Given the description of an element on the screen output the (x, y) to click on. 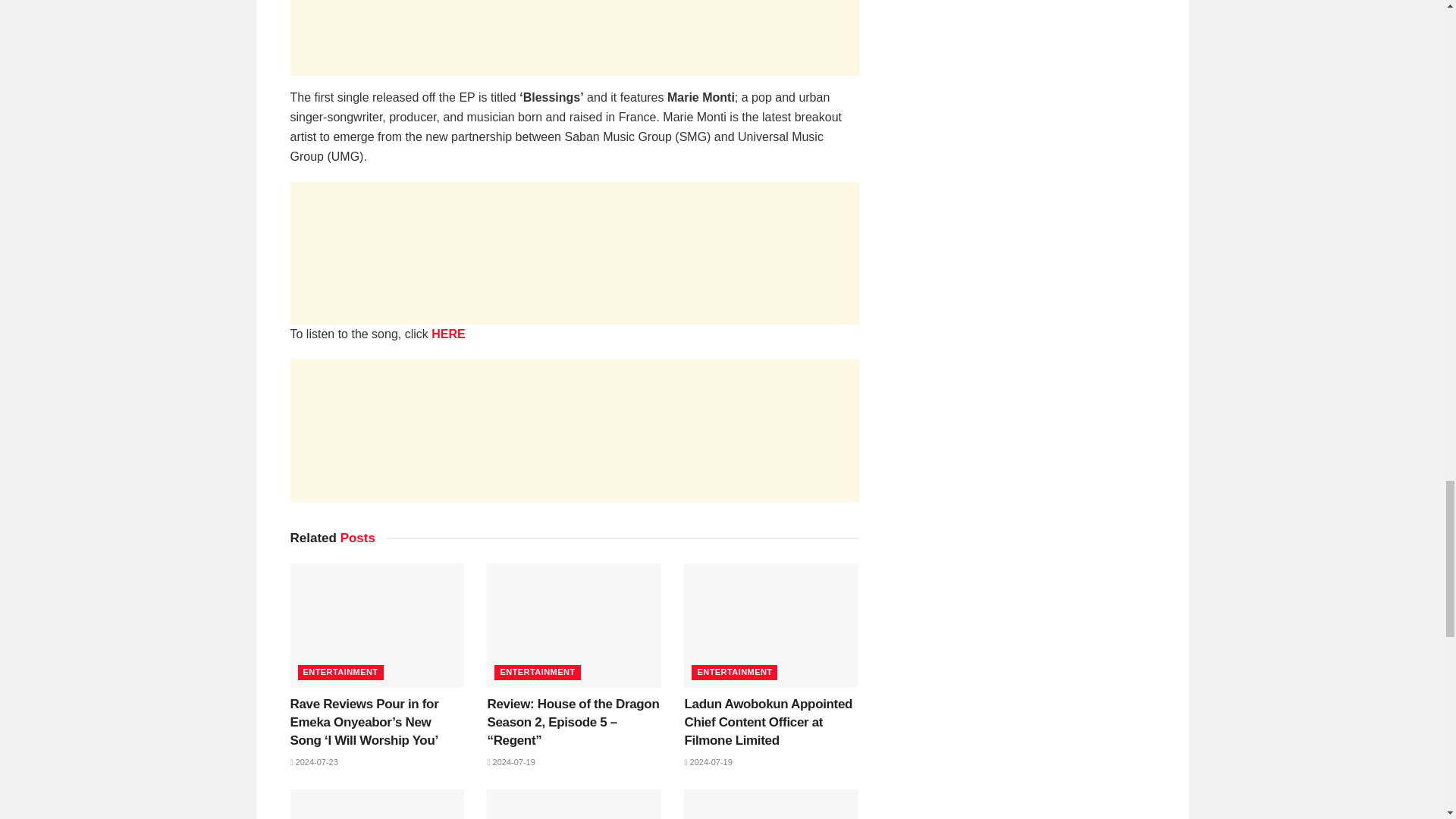
ENTERTAINMENT (537, 672)
Advertisement (574, 252)
ENTERTAINMENT (339, 672)
Advertisement (574, 38)
HERE (447, 333)
2024-07-19 (510, 761)
2024-07-23 (313, 761)
ENTERTAINMENT (734, 672)
Advertisement (574, 430)
Advertisement (1023, 27)
